Given the description of an element on the screen output the (x, y) to click on. 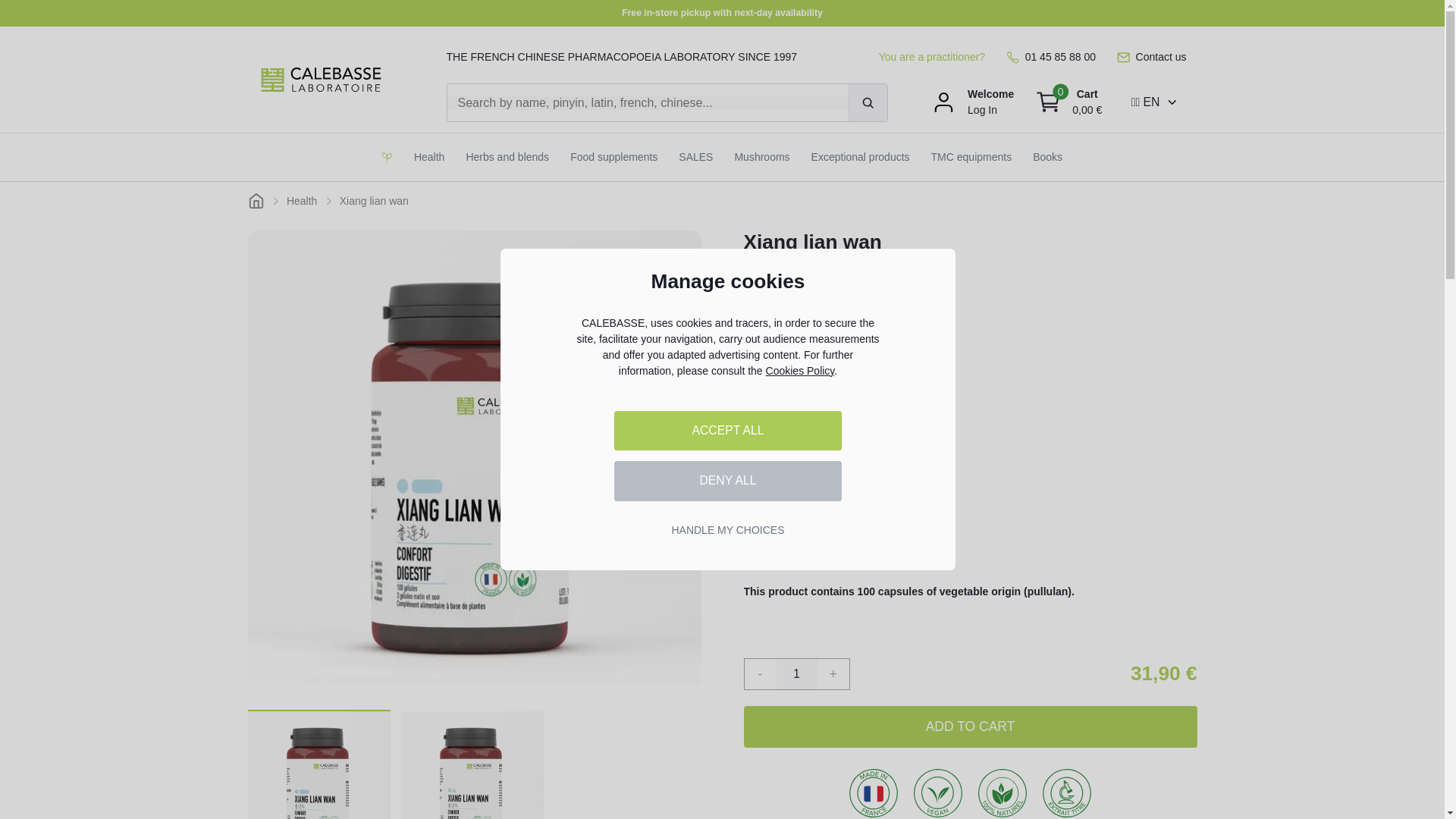
SALES (695, 157)
TMC equipments (971, 157)
01 45 85 88 00 (1051, 57)
Cookies Policy (799, 370)
1 (796, 674)
0 (1048, 101)
DENY ALL (727, 481)
You are a practitioner? (932, 57)
Contact us (1151, 57)
Welcome (990, 94)
Herbs and blends (506, 157)
Exceptional products (860, 157)
Food supplements (613, 157)
Health (428, 157)
Log In (982, 110)
